Given the description of an element on the screen output the (x, y) to click on. 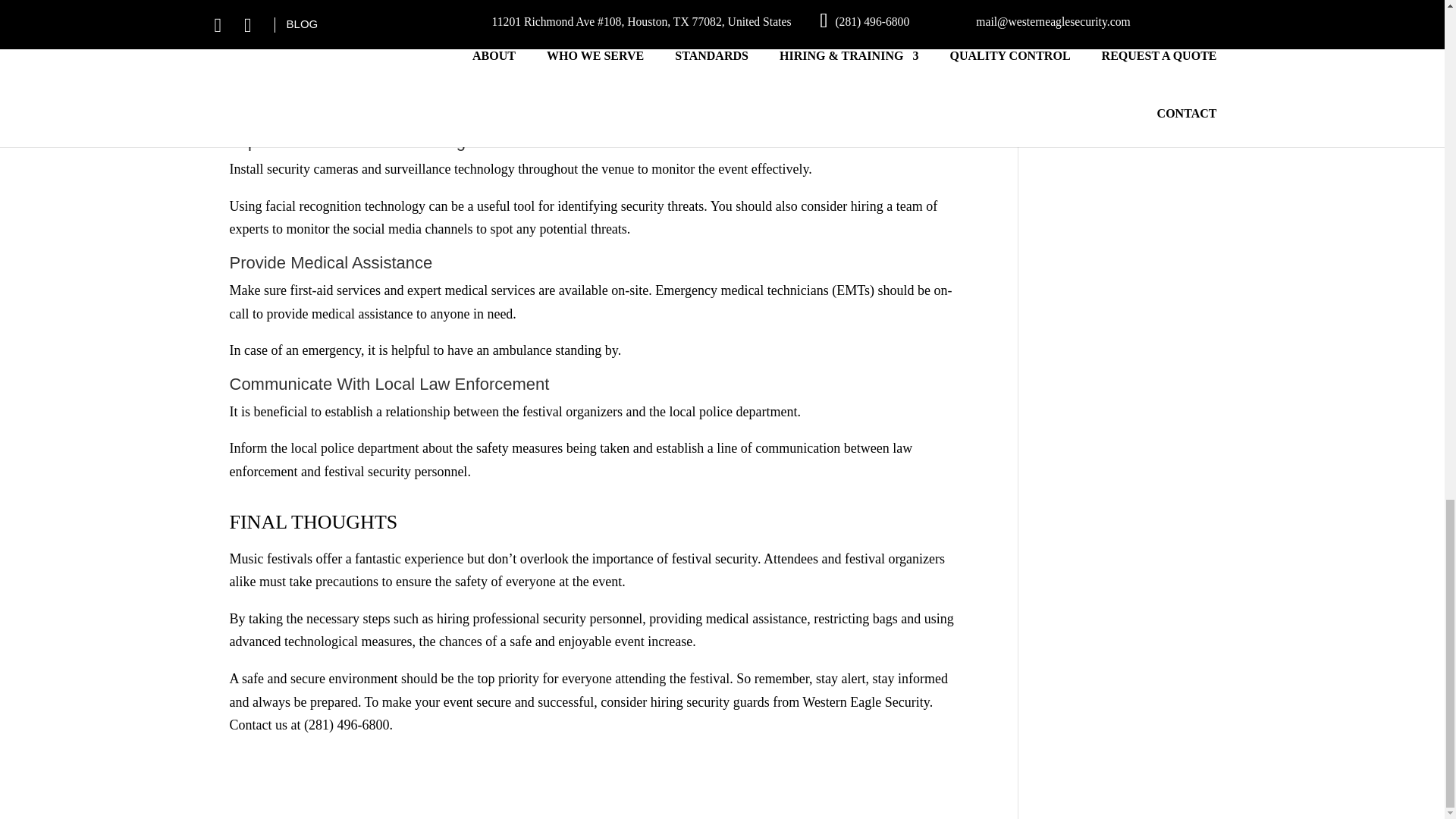
Western Eagle Security (865, 702)
